Given the description of an element on the screen output the (x, y) to click on. 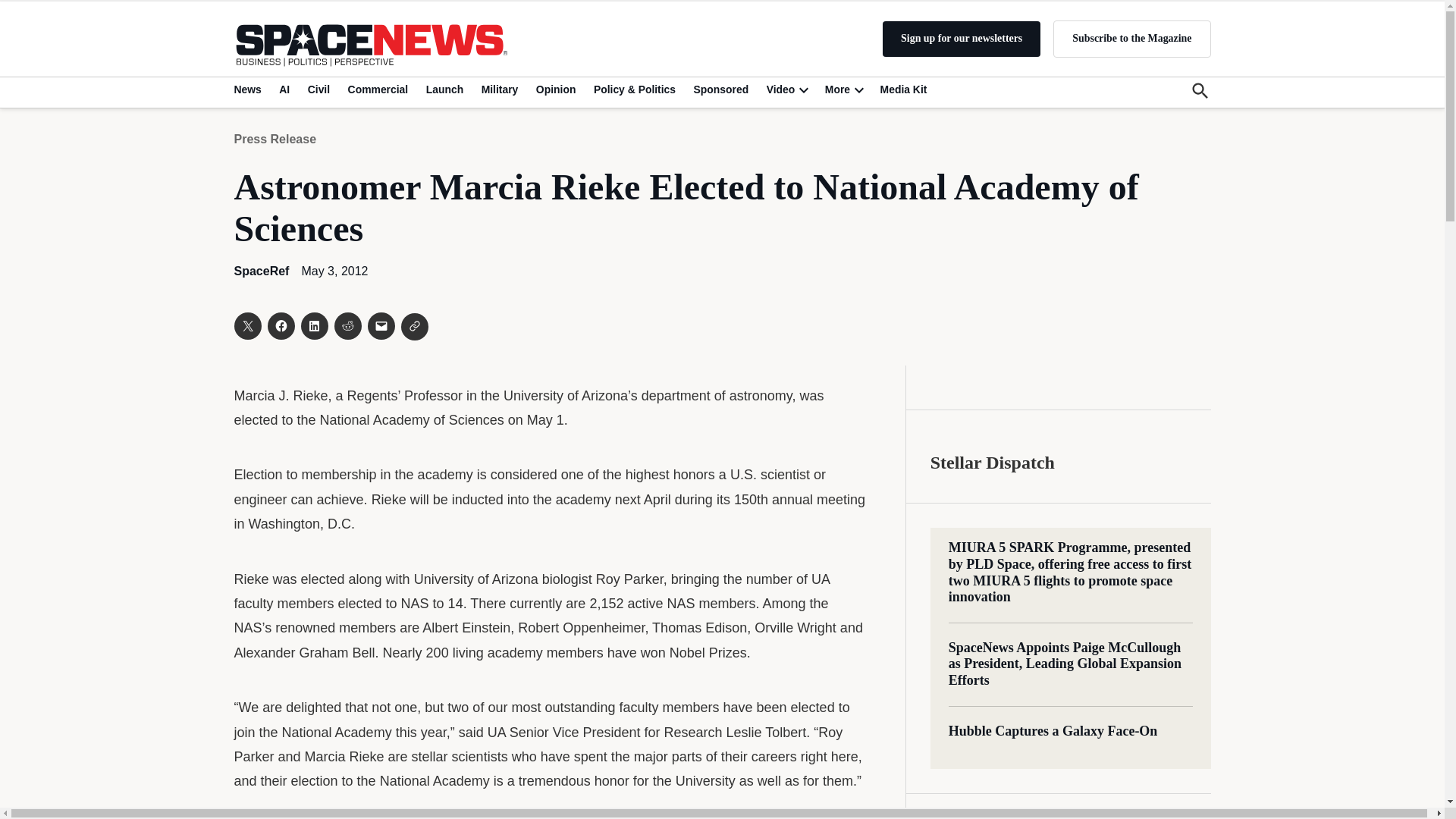
Sign up for our newsletters (961, 38)
Click to share on Clipboard (414, 326)
News (249, 89)
Click to share on Facebook (280, 325)
Click to share on Reddit (347, 325)
Click to share on X (246, 325)
Click to share on LinkedIn (313, 325)
Click to email a link to a friend (380, 325)
AI (284, 89)
Civil (318, 89)
Subscribe to the Magazine (1130, 38)
